Given the description of an element on the screen output the (x, y) to click on. 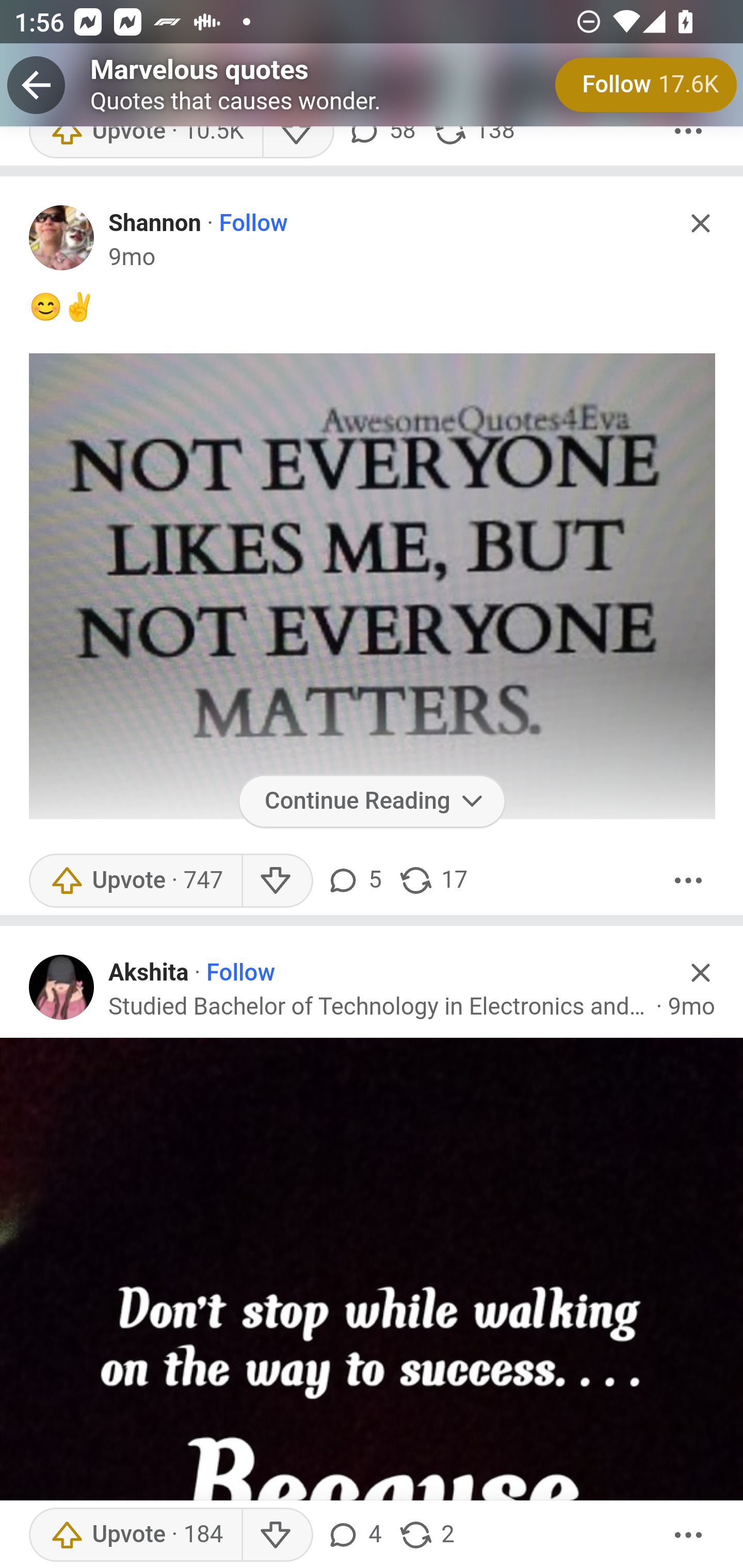
Marvelous quotes (200, 70)
Follow 17.6K (646, 85)
Hide (700, 224)
Profile photo for Shannon (61, 237)
Shannon (155, 223)
Follow (253, 223)
main-qimg-2babd18a8fcbbdaf03d5af97ef7ed64e (371, 587)
Continue Reading (371, 802)
Hide (700, 973)
Profile photo for Akshita (61, 987)
Akshita (148, 973)
Follow (240, 973)
main-qimg-30191870808d2ebc929fa5c704f64d5a (371, 1303)
Upvote (135, 1534)
Downvote (277, 1534)
4 comments (353, 1534)
2 shares (425, 1534)
More (688, 1534)
